Given the description of an element on the screen output the (x, y) to click on. 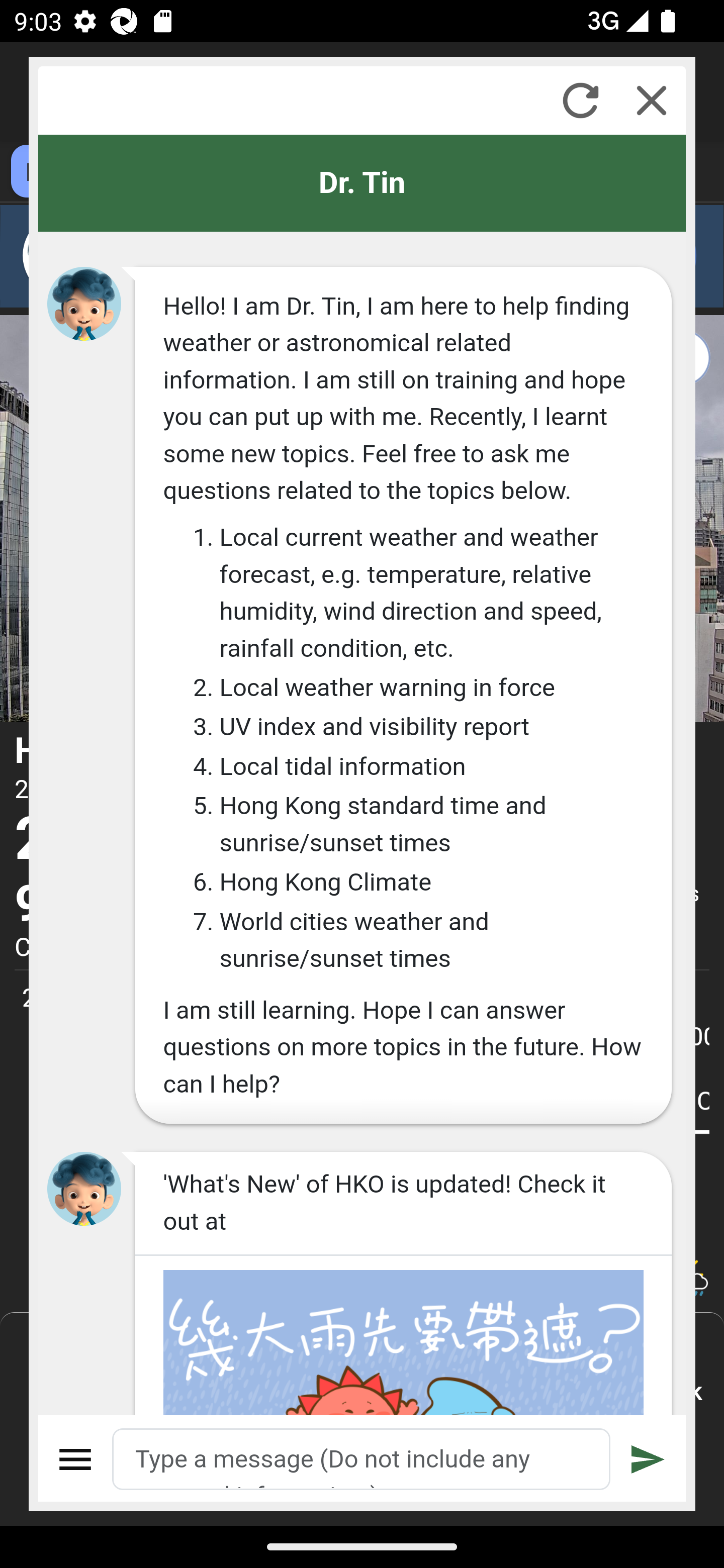
Refresh (580, 100)
Close (651, 100)
Menu (75, 1458)
Submit (648, 1458)
